Given the description of an element on the screen output the (x, y) to click on. 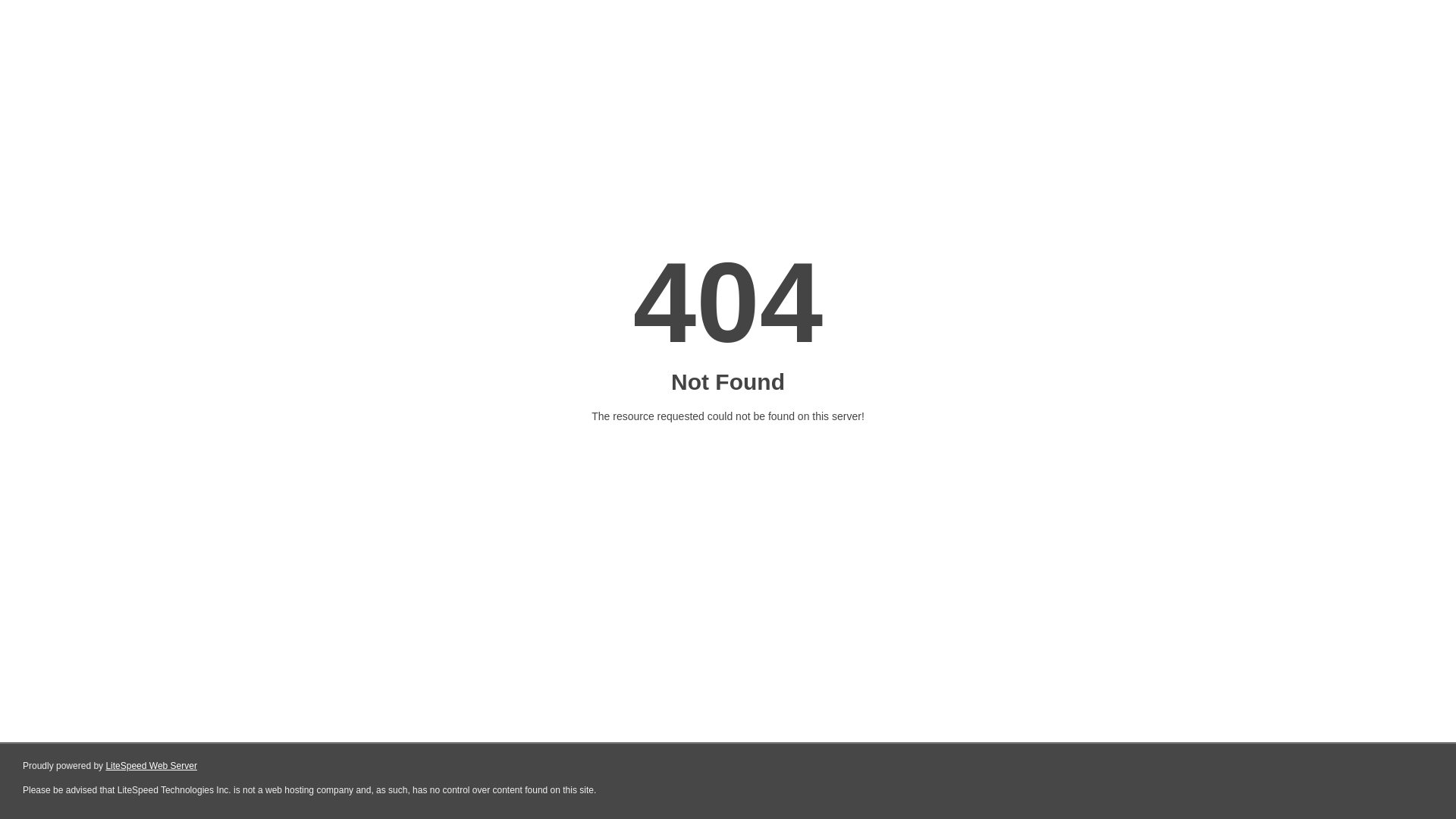
LiteSpeed Web Server Element type: text (151, 765)
